Given the description of an element on the screen output the (x, y) to click on. 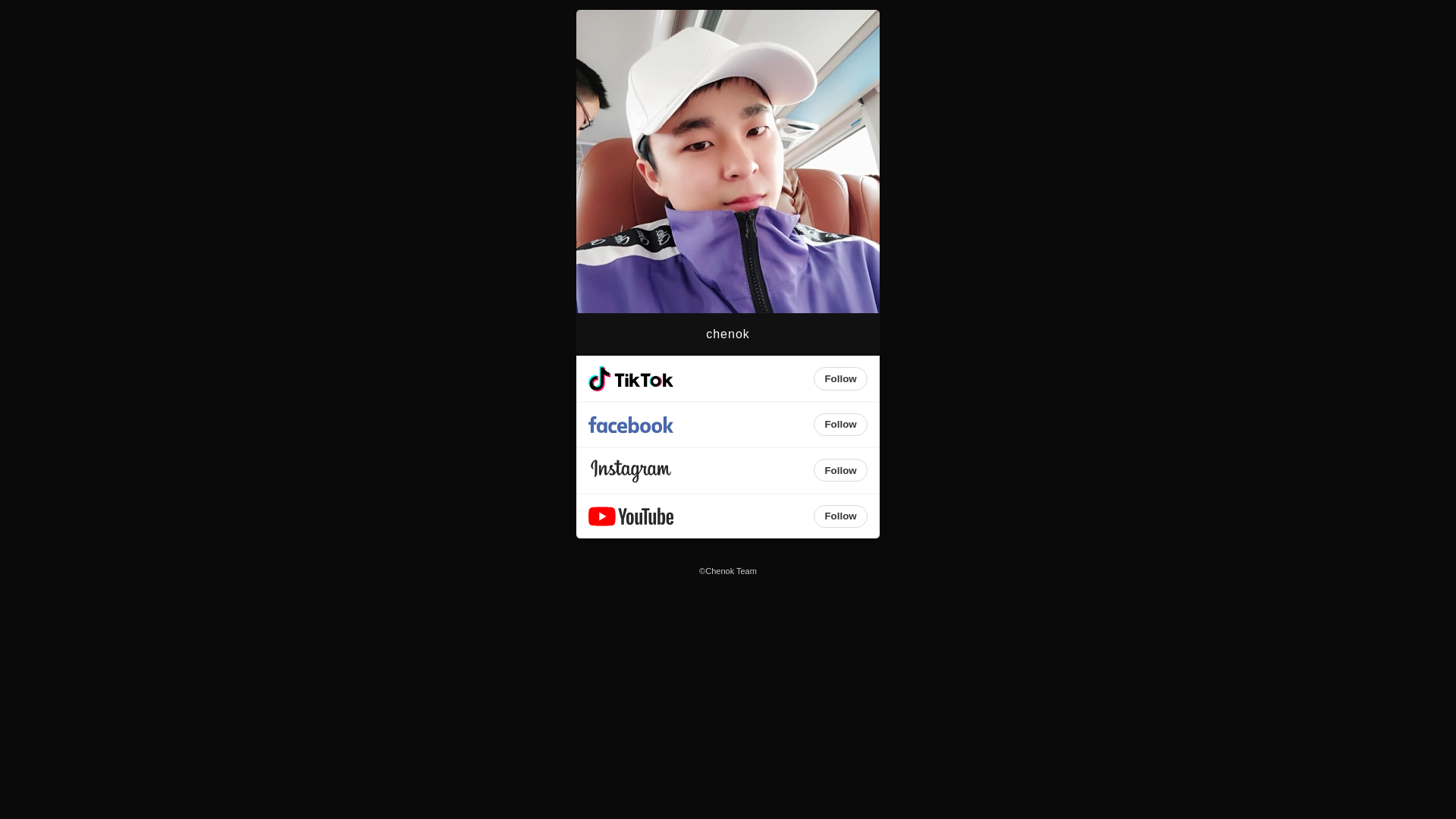
Follow Element type: text (840, 469)
Follow Element type: text (840, 378)
Follow Element type: text (840, 424)
Follow Element type: text (840, 516)
